Given the description of an element on the screen output the (x, y) to click on. 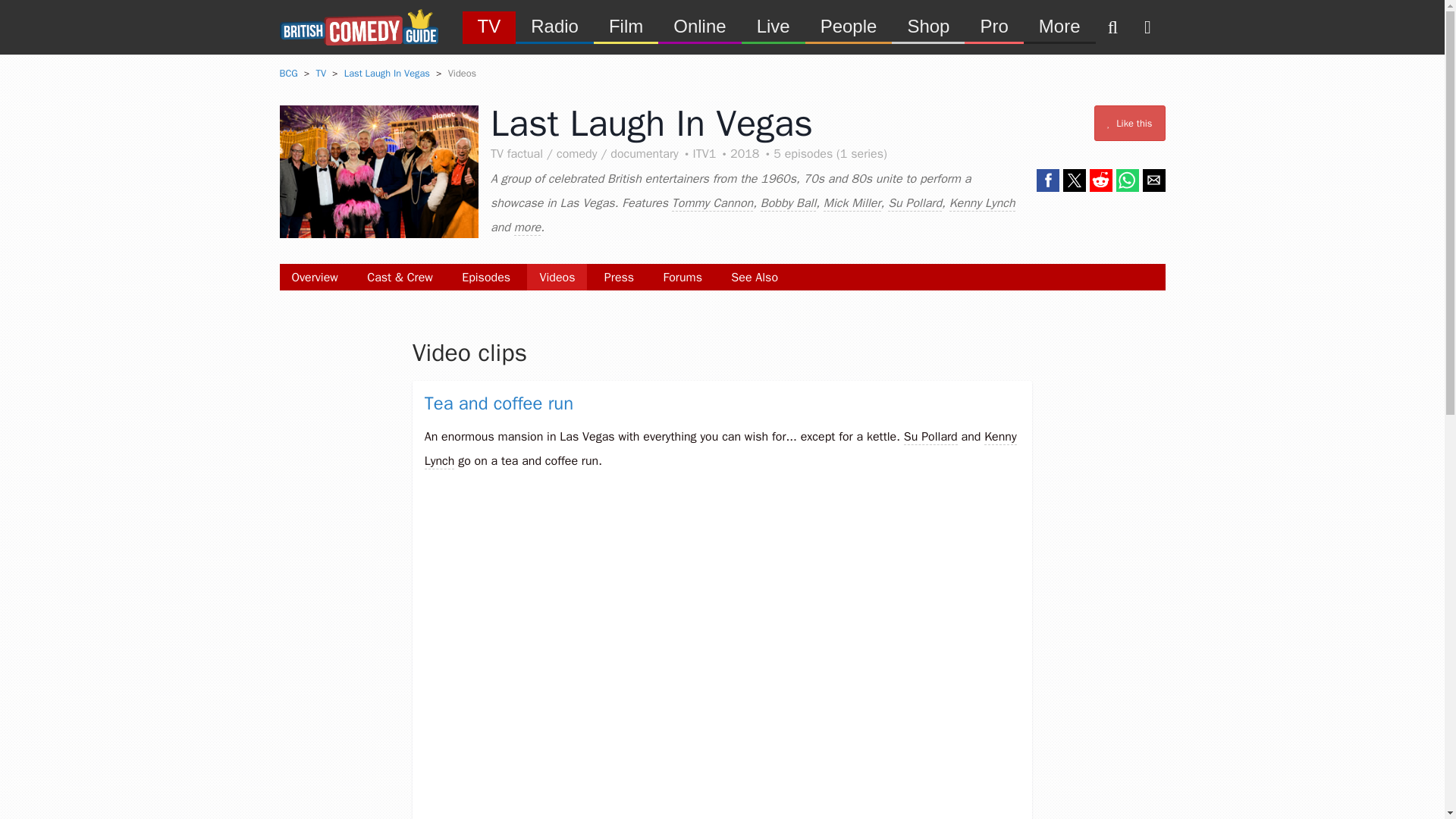
Overview (314, 276)
Online (699, 25)
Like for updates and more (1130, 122)
Pro (993, 25)
Videos (556, 276)
Forums (682, 276)
Last Laugh In Vegas (386, 73)
Kenny Lynch (720, 449)
TV (489, 25)
